Given the description of an element on the screen output the (x, y) to click on. 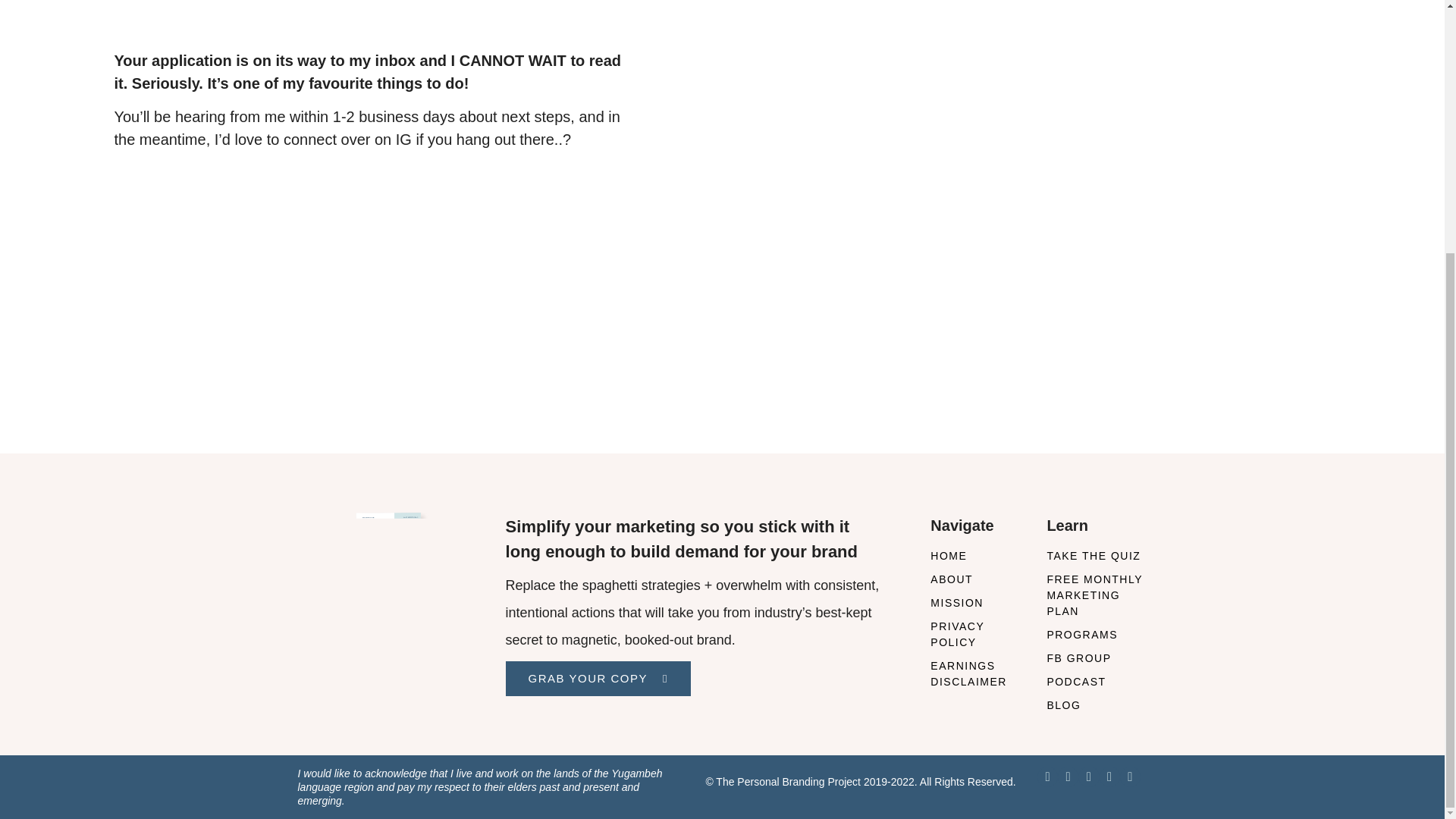
ABOUT (976, 579)
GRAB YOUR COPY (597, 678)
EARNINGS DISCLAIMER (976, 674)
FREE MONTHLY MARKETING PLAN (1094, 595)
PROGRAMS (1094, 634)
TAKE THE QUIZ (1094, 555)
PRIVACY POLICY (976, 634)
MISSION (976, 602)
HOME (976, 555)
